Given the description of an element on the screen output the (x, y) to click on. 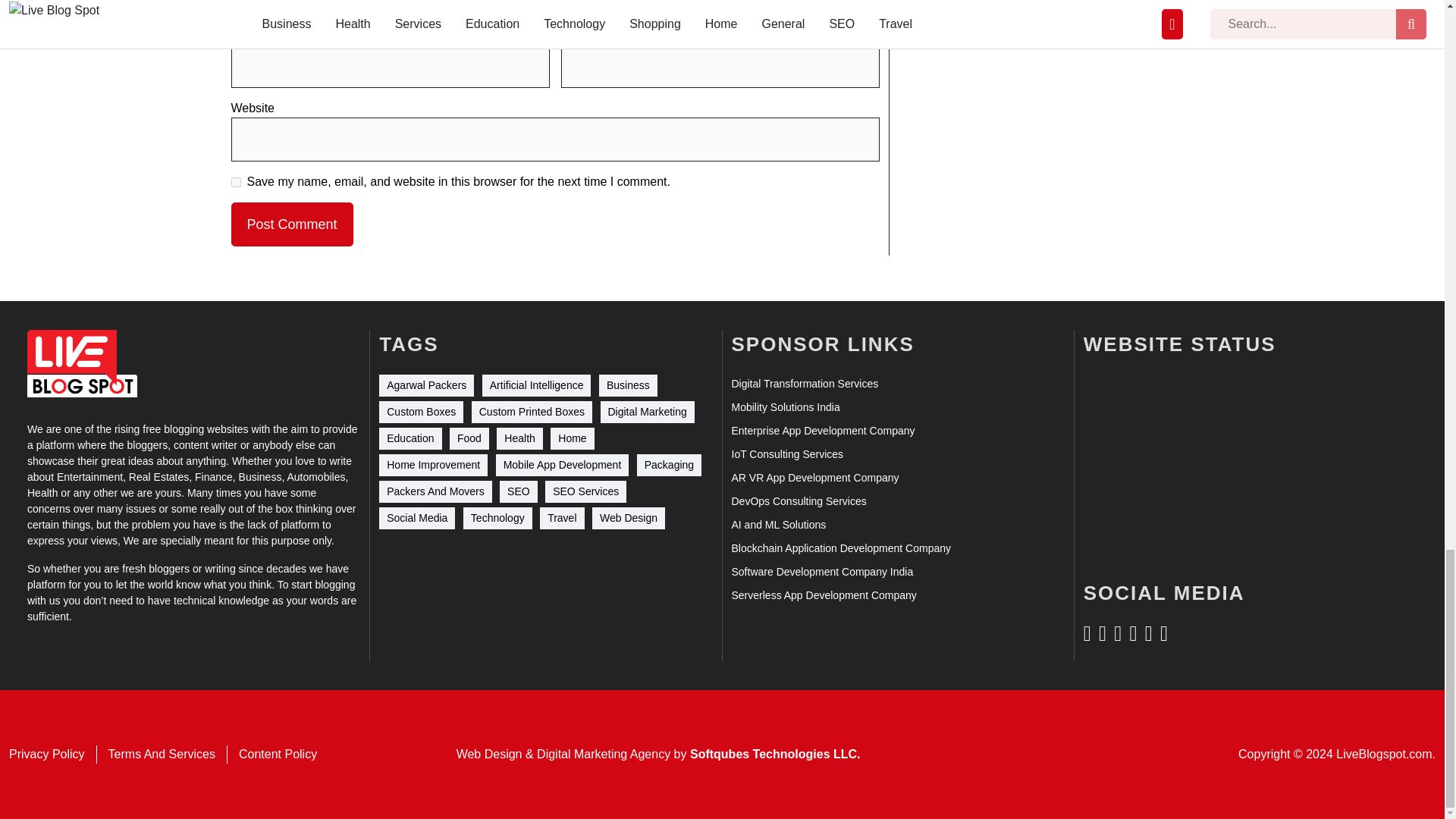
IoT Consulting Services (786, 454)
Post Comment (291, 224)
Mobility Solutions India (785, 407)
DevOps Consulting Services (798, 501)
AR VR App Development Company (814, 478)
Live Blog Spot (81, 363)
yes (235, 182)
Post Comment (291, 224)
Digital Transformation Services (803, 383)
Enterprise App Development Company (822, 430)
